Given the description of an element on the screen output the (x, y) to click on. 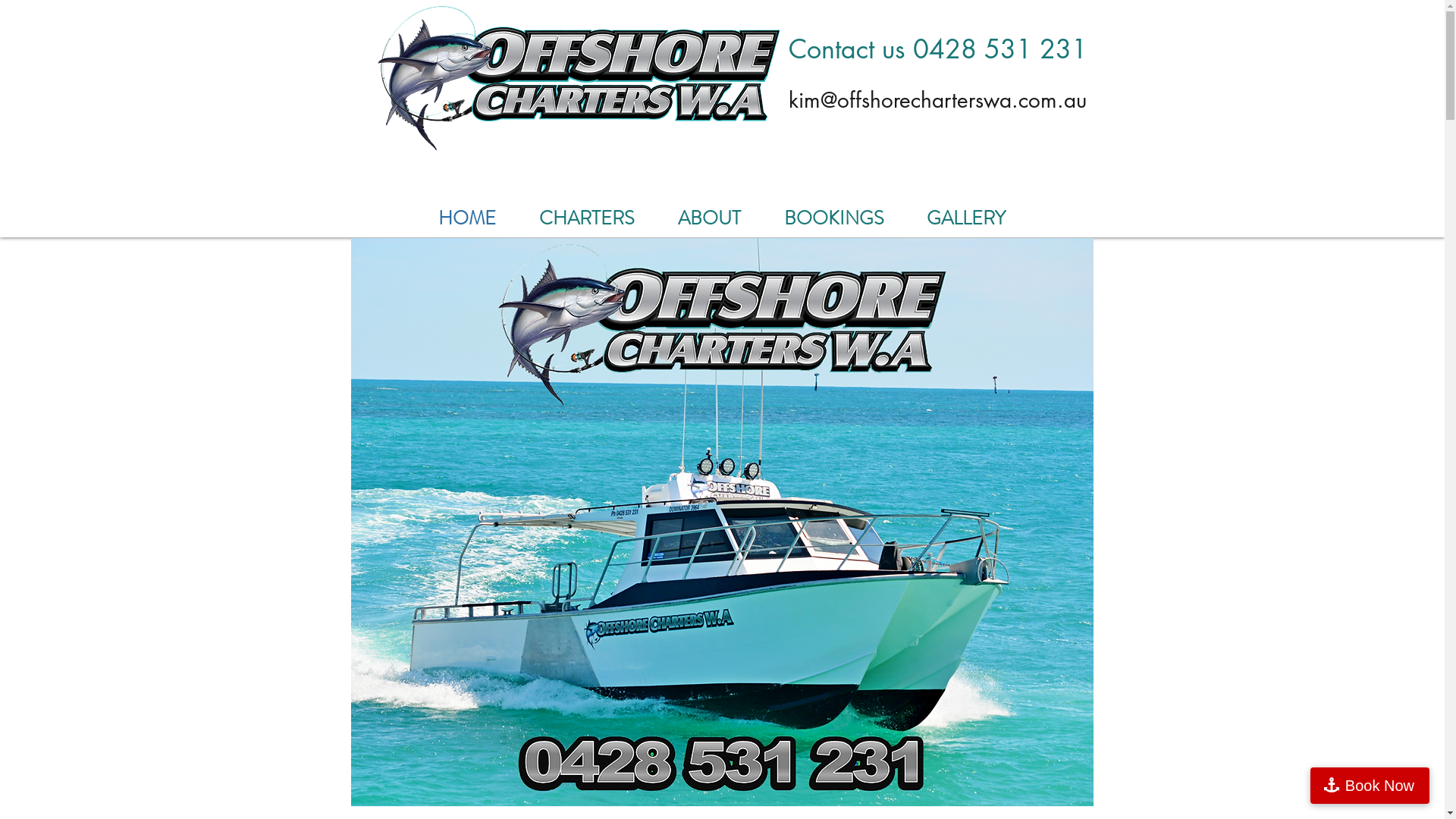
HOME Element type: text (467, 218)
ABOUT Element type: text (709, 218)
kim@offshorecharterswa.com.au Element type: text (937, 99)
GALLERY Element type: text (965, 218)
BOOKINGS Element type: text (833, 218)
CHARTERS Element type: text (586, 218)
Book Now Element type: text (1369, 785)
